Given the description of an element on the screen output the (x, y) to click on. 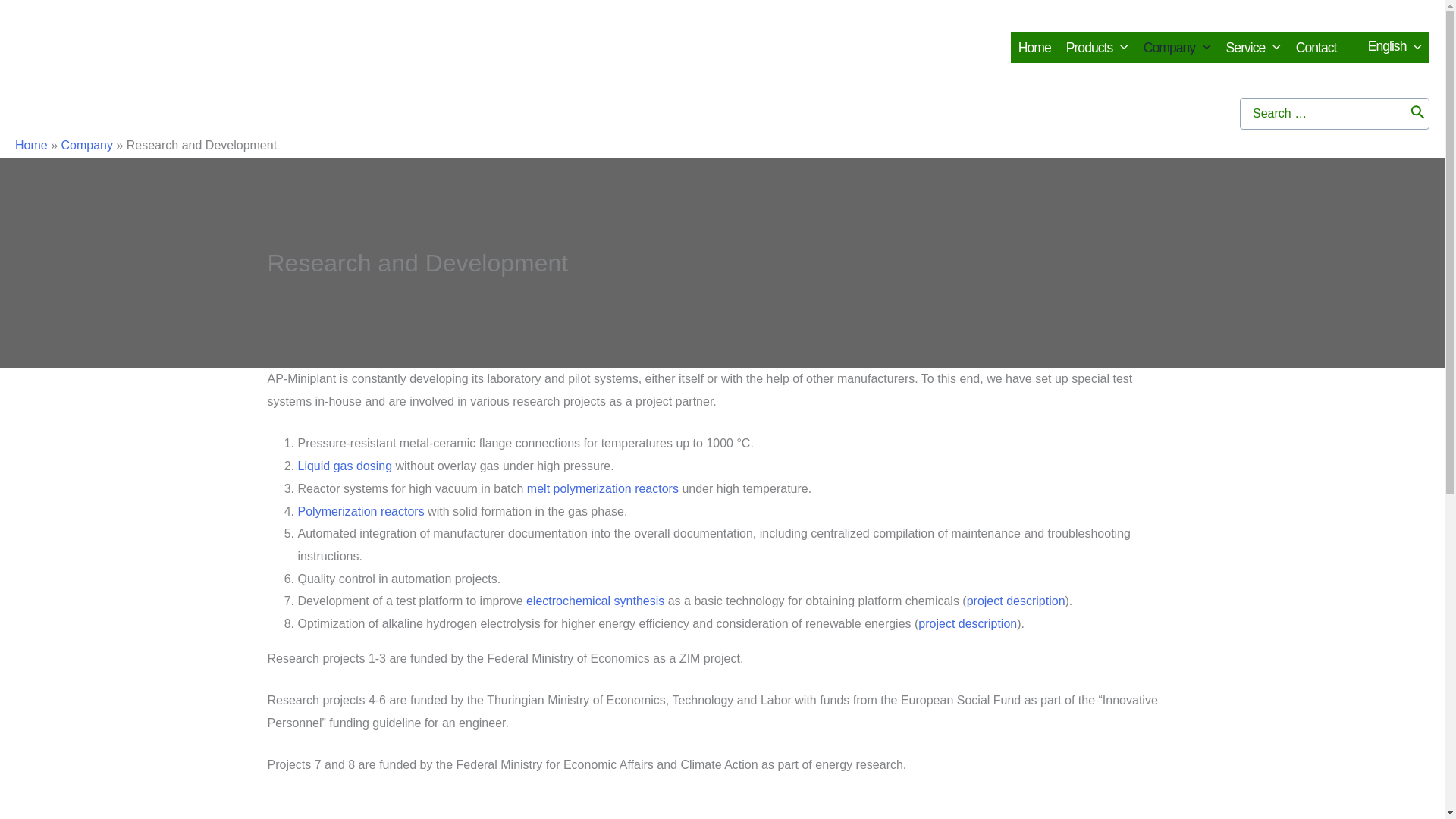
Contact (1315, 47)
Home (1034, 47)
Products (1096, 47)
Service (1253, 47)
English (1386, 47)
AP-Miniplant (143, 38)
Company (1176, 47)
